Given the description of an element on the screen output the (x, y) to click on. 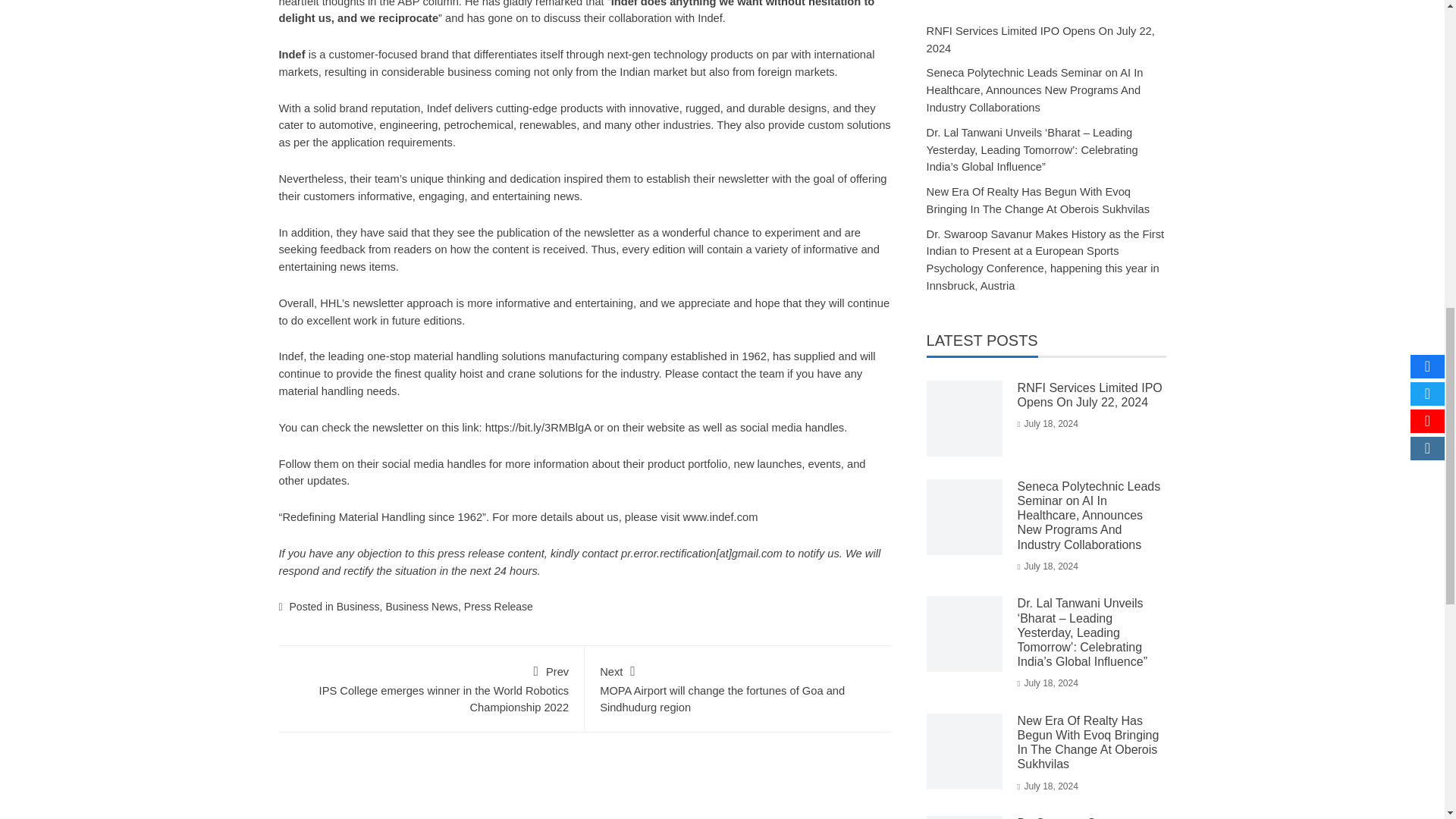
RNFI Services Limited IPO Opens On July 22, 2024 (1040, 39)
www.indef.com (720, 517)
Press Release (498, 606)
Business (358, 606)
Business News (421, 606)
RNFI Services Limited IPO Opens On July 22, 2024 (1089, 394)
